Given the description of an element on the screen output the (x, y) to click on. 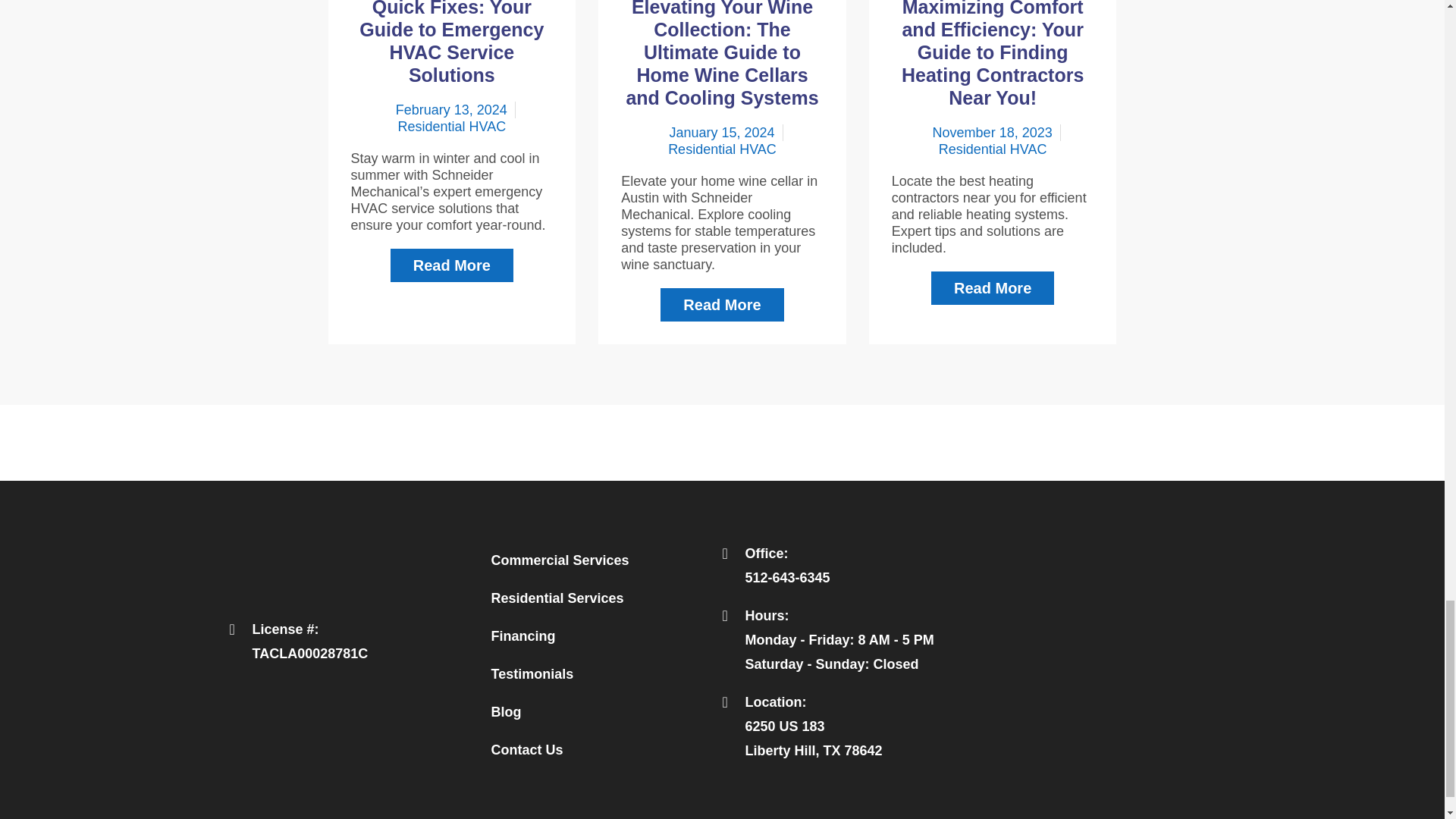
Schneider Mechanical Austin, TX (1082, 651)
